Given the description of an element on the screen output the (x, y) to click on. 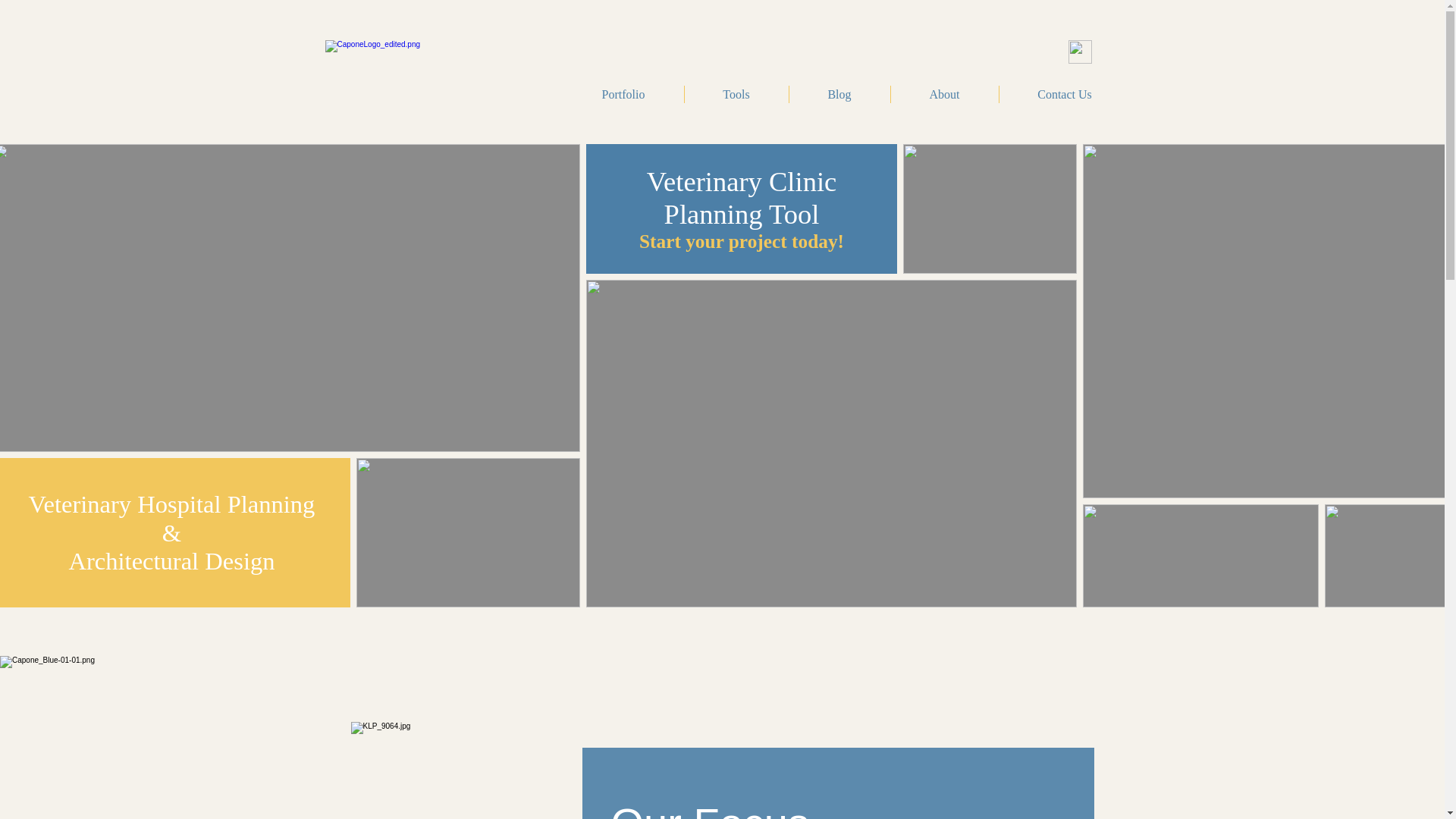
Portfolio (622, 94)
About (943, 94)
Contact Us (1064, 94)
Blog (839, 94)
linkedin-3-512.png (1078, 51)
